Given the description of an element on the screen output the (x, y) to click on. 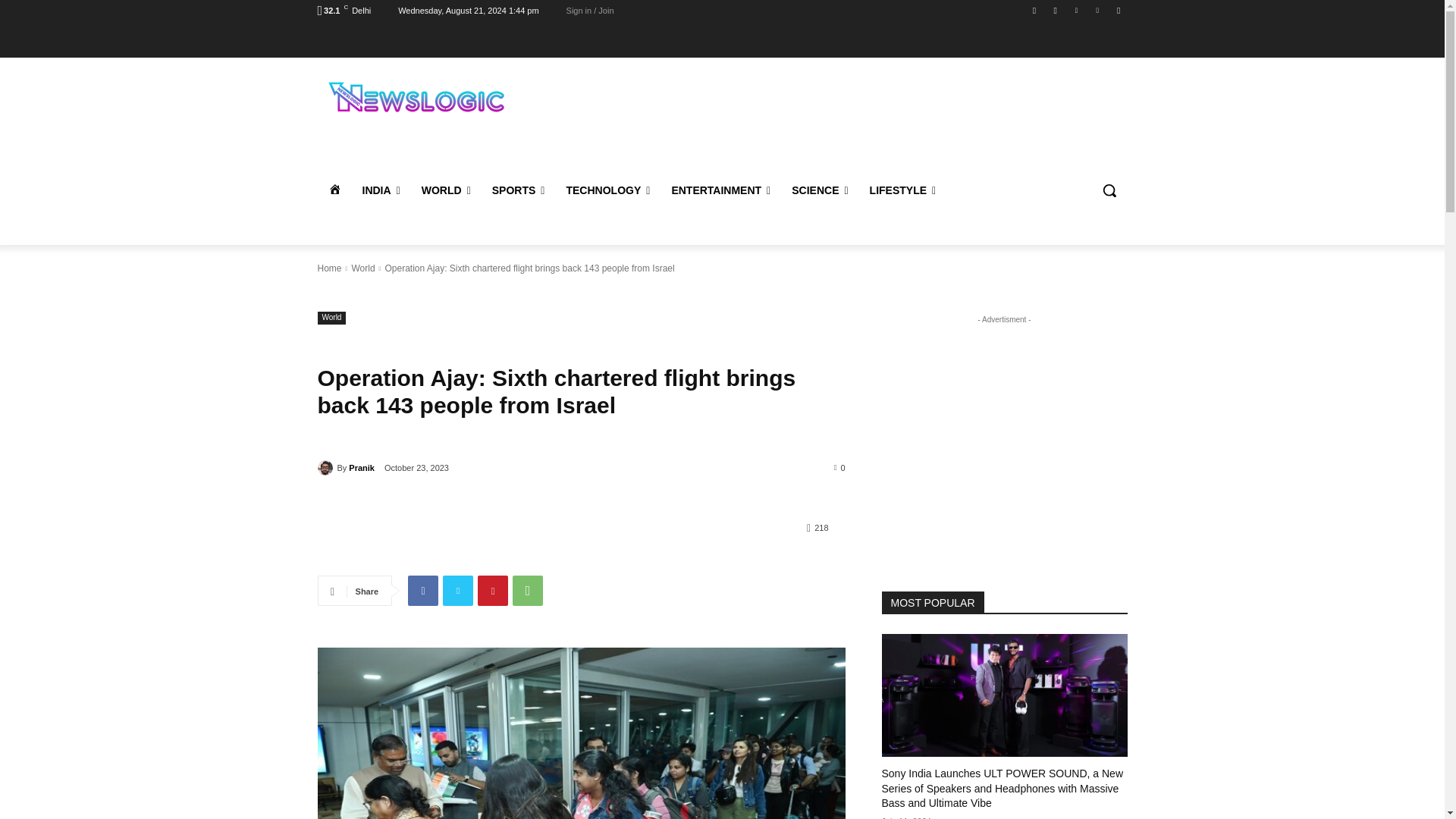
Facebook (1034, 9)
Twitter (1075, 9)
Vimeo (1097, 9)
Instagram (1055, 9)
Youtube (1117, 9)
INDIA (381, 189)
NewsLogic (414, 96)
HOME (333, 189)
